Given the description of an element on the screen output the (x, y) to click on. 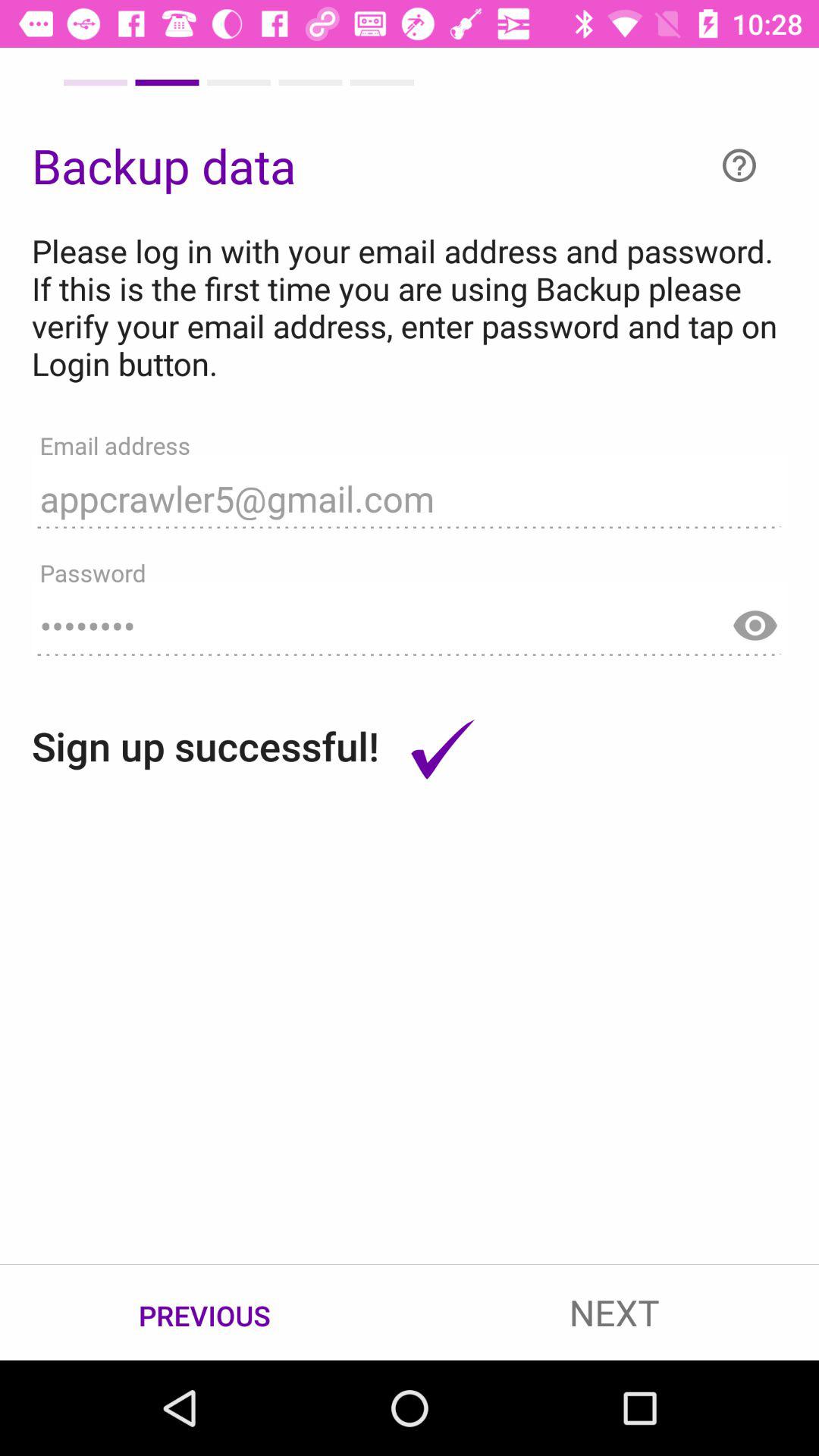
click the 12345678 item (409, 618)
